Given the description of an element on the screen output the (x, y) to click on. 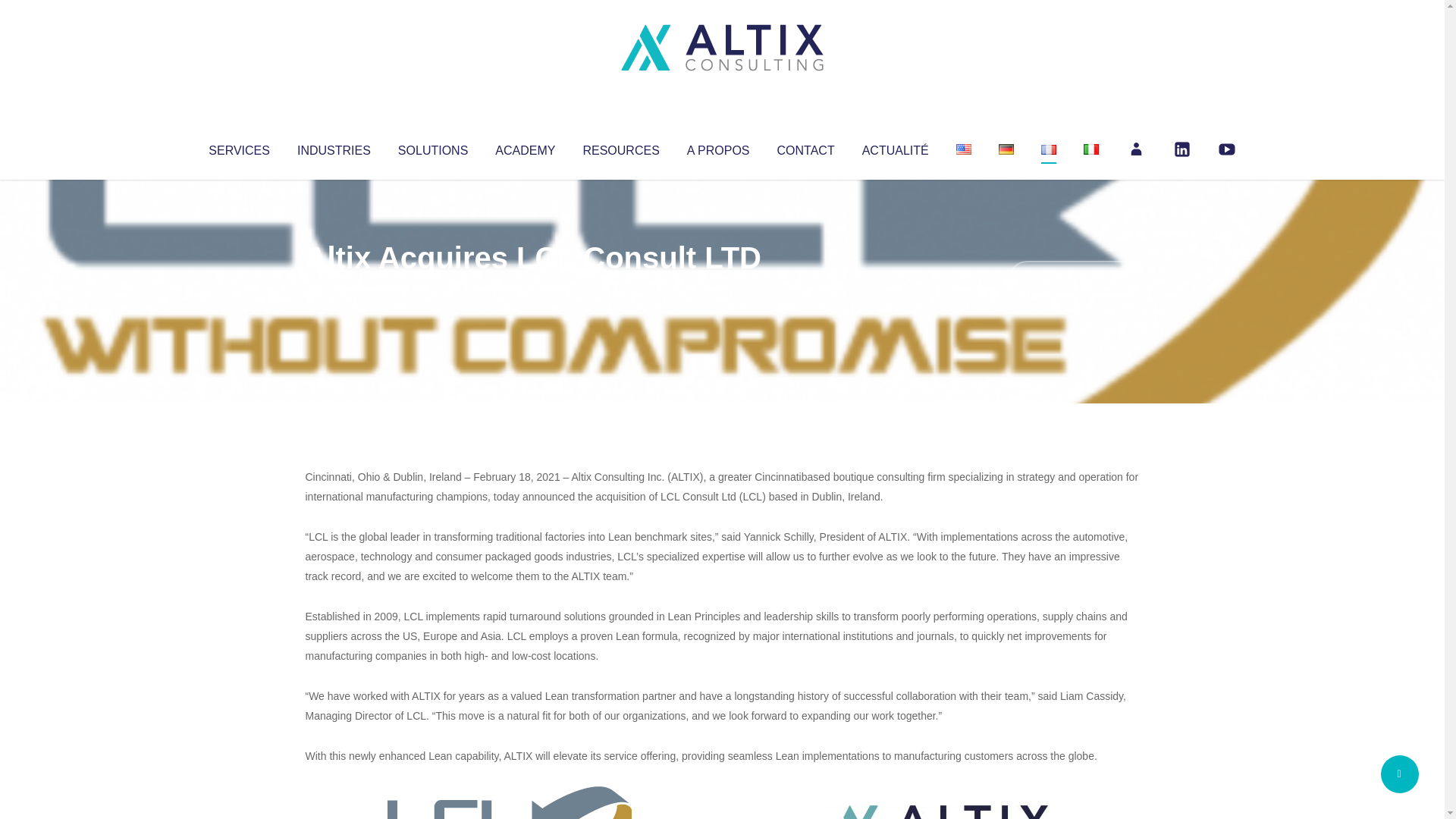
Uncategorized (530, 287)
No Comments (1073, 278)
INDUSTRIES (334, 146)
SOLUTIONS (432, 146)
SERVICES (238, 146)
Articles par Altix (333, 287)
Altix (333, 287)
A PROPOS (718, 146)
ACADEMY (524, 146)
RESOURCES (620, 146)
